Given the description of an element on the screen output the (x, y) to click on. 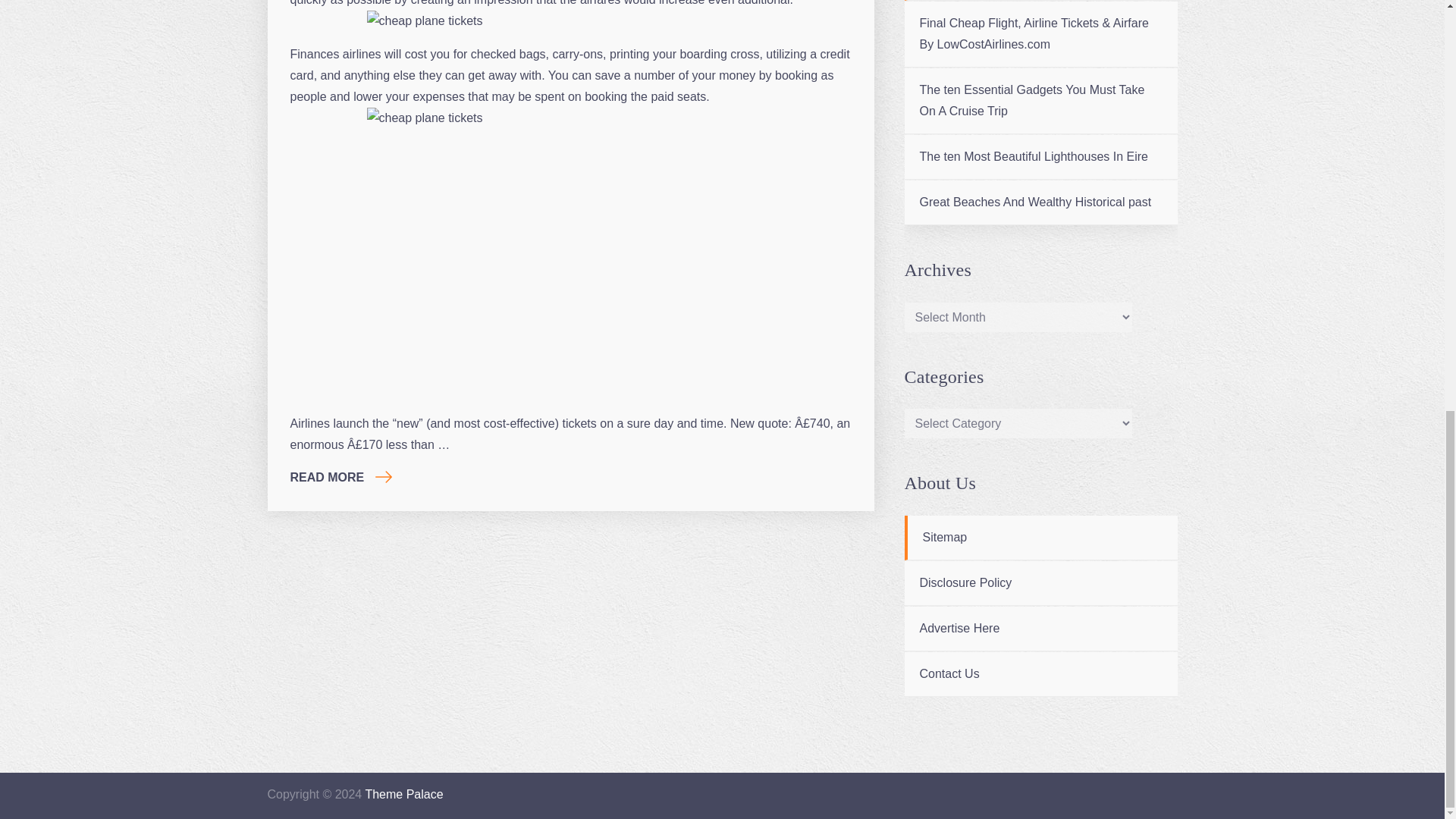
READ MORE (340, 477)
